Given the description of an element on the screen output the (x, y) to click on. 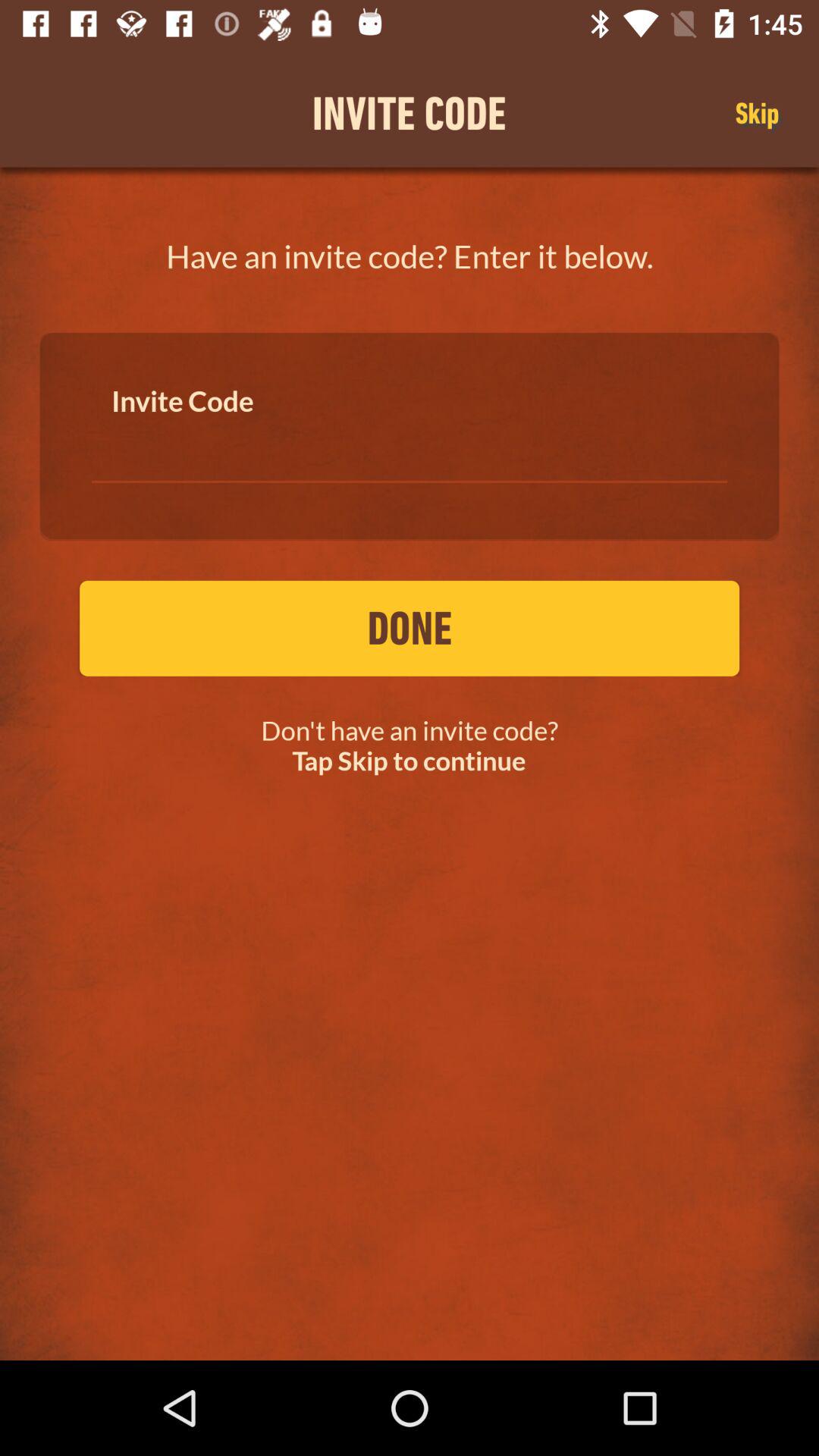
open icon above the don t have icon (409, 628)
